Given the description of an element on the screen output the (x, y) to click on. 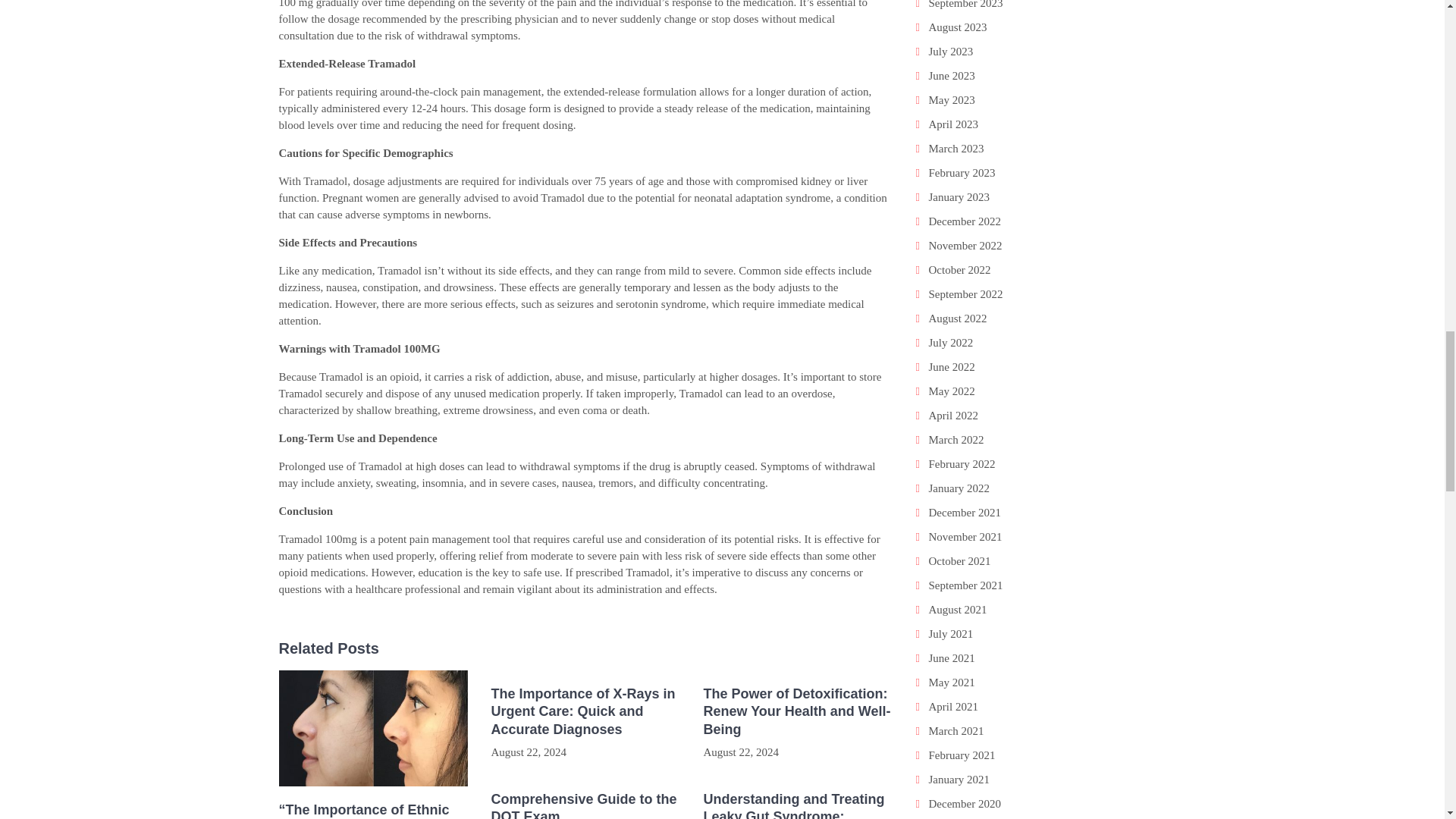
Comprehensive Guide to the DOT Exam (584, 805)
